Given the description of an element on the screen output the (x, y) to click on. 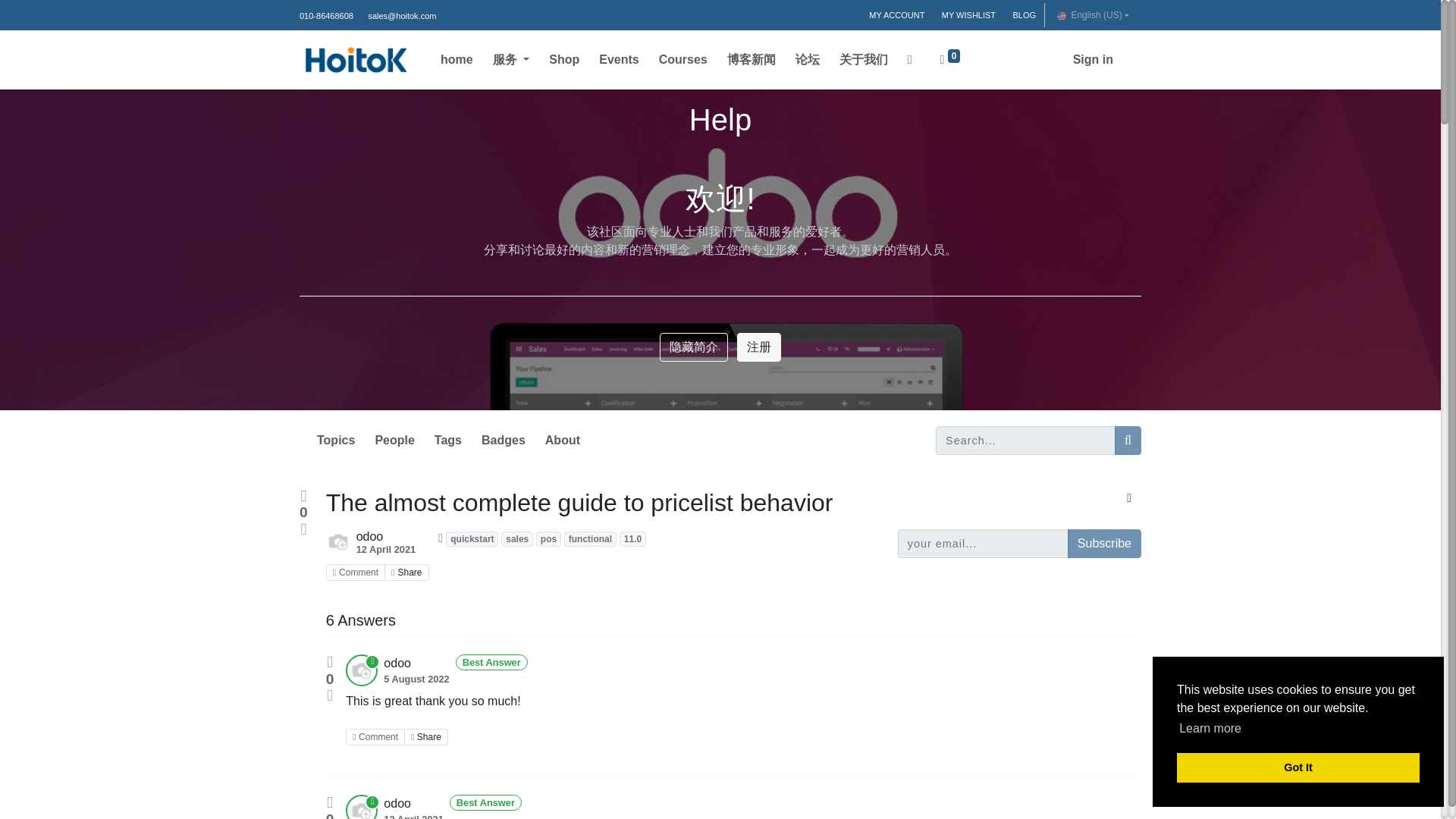
Topics (336, 440)
BLOG (1023, 14)
Hoitok (355, 60)
Tags (447, 440)
MY ACCOUNT (896, 14)
home (456, 60)
MY WISHLIST (968, 14)
Events (618, 60)
Badges (503, 440)
Got It (1297, 767)
0 (950, 60)
About (562, 440)
Shop (564, 60)
Learn more (1209, 728)
People (394, 440)
